Given the description of an element on the screen output the (x, y) to click on. 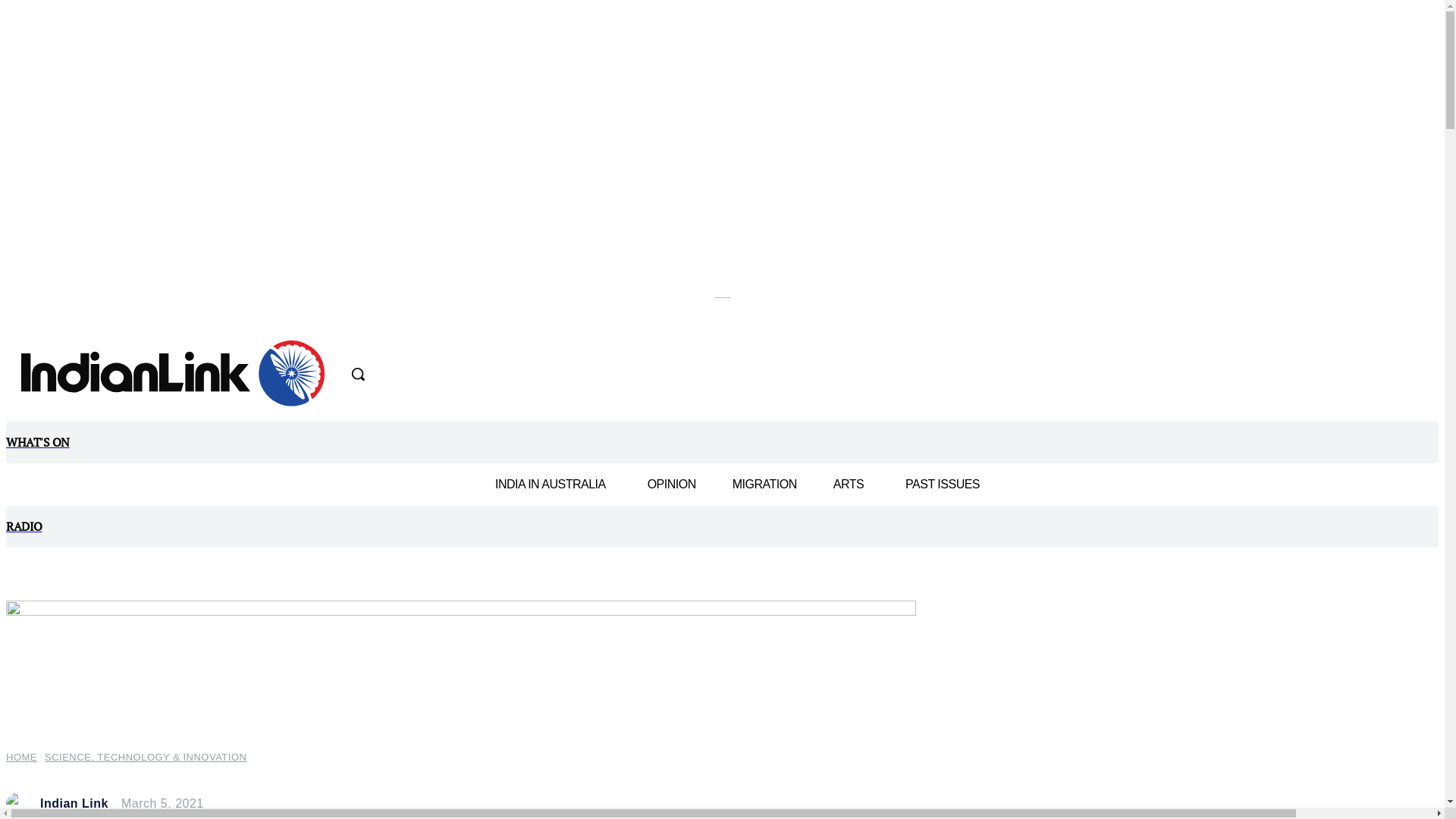
WHAT'S ON Element type: text (722, 442)
HOME Element type: text (21, 756)
RADIO Element type: text (722, 526)
OPINION Element type: text (671, 484)
Indian Link Element type: text (74, 803)
SCIENCE, TECHNOLOGY & INNOVATION Element type: text (145, 756)
PAST ISSUES Element type: text (942, 484)
Indian Link Element type: hover (21, 803)
MIGRATION Element type: text (764, 484)
ARTS Element type: text (851, 484)
INDIA IN AUSTRALIA Element type: text (552, 484)
